Given the description of an element on the screen output the (x, y) to click on. 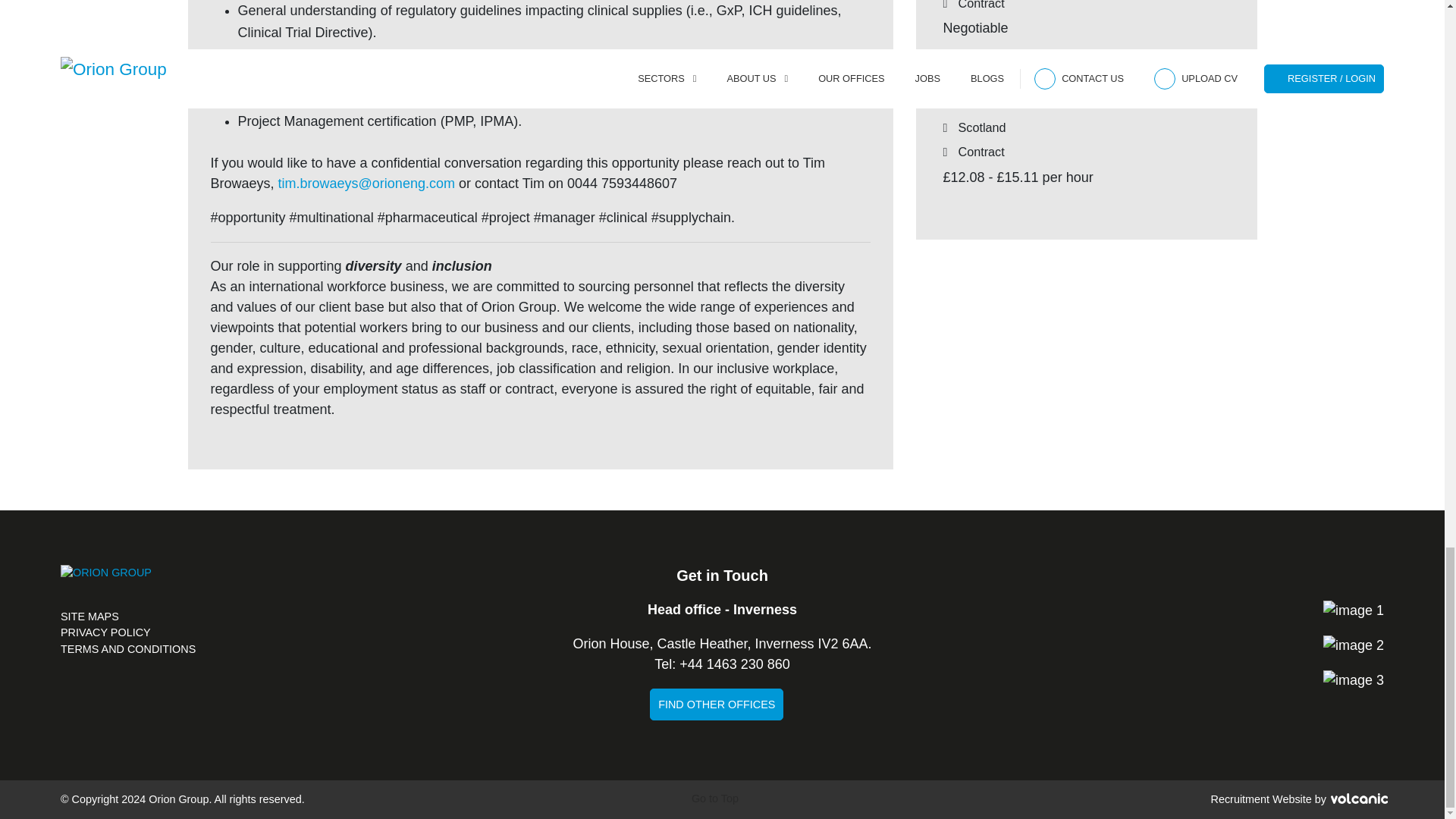
Volcanic (1358, 798)
Go to Top (722, 800)
Orion Group (106, 585)
